Given the description of an element on the screen output the (x, y) to click on. 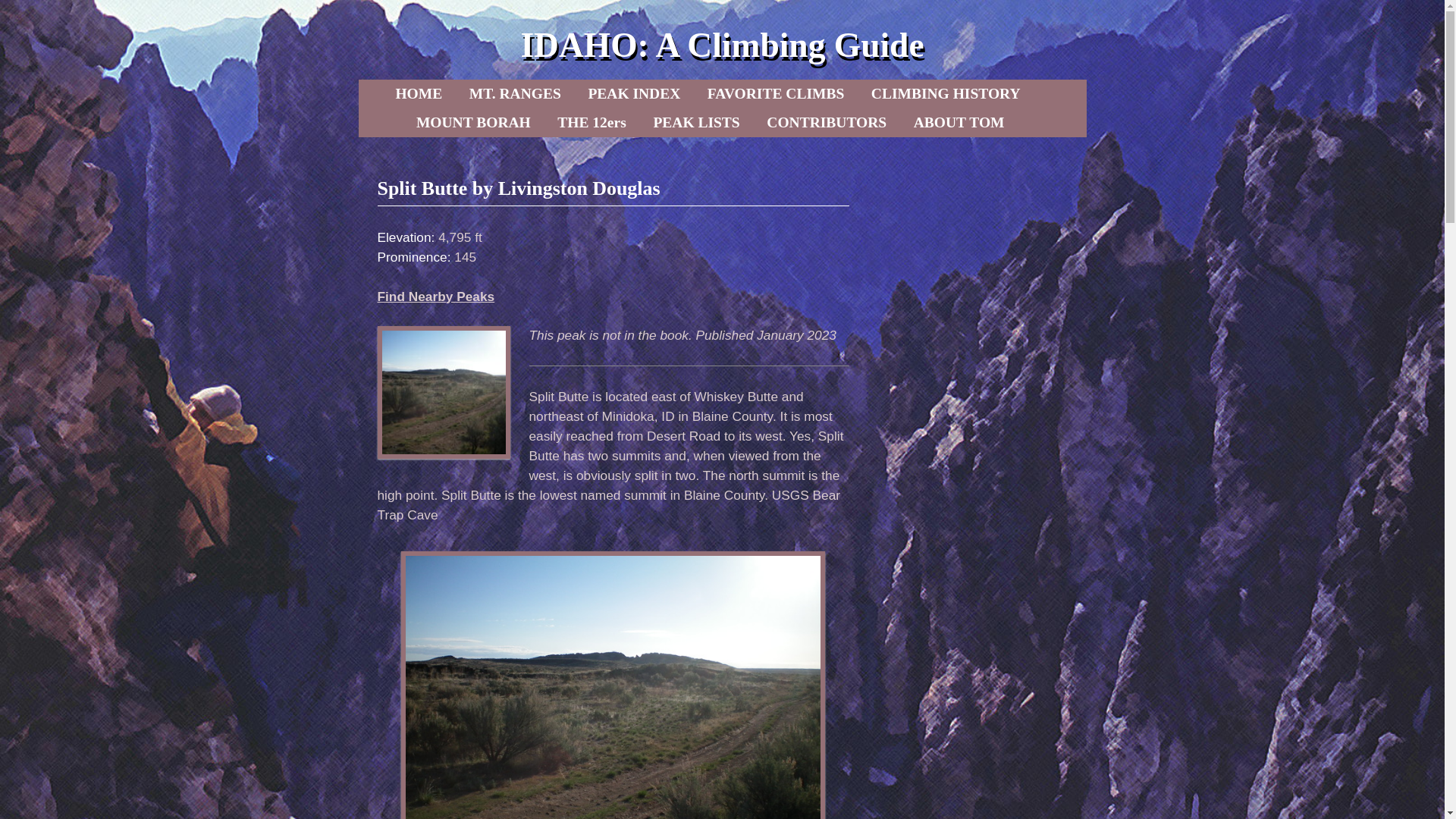
IDAHO: A Climbing Guide (721, 44)
HOME (418, 93)
Skip to secondary content (463, 93)
THE 12ers (591, 122)
CONTRIBUTORS (825, 122)
Find Nearby Peaks (436, 296)
IDAHO: A Climbing Guide (721, 44)
PEAK INDEX (633, 93)
CLIMBING HISTORY (945, 93)
ABOUT TOM (958, 122)
